Given the description of an element on the screen output the (x, y) to click on. 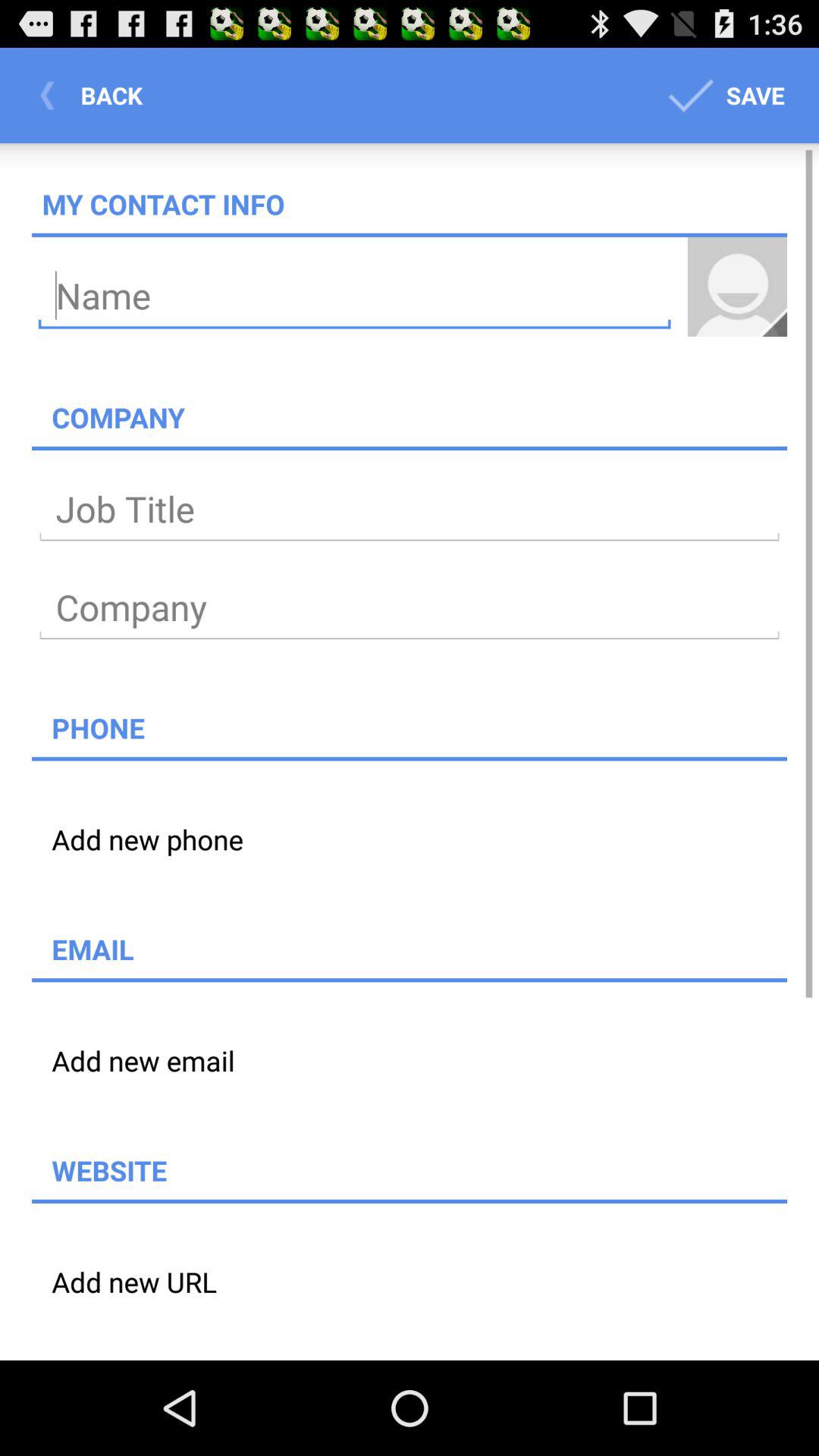
open save icon (723, 95)
